Given the description of an element on the screen output the (x, y) to click on. 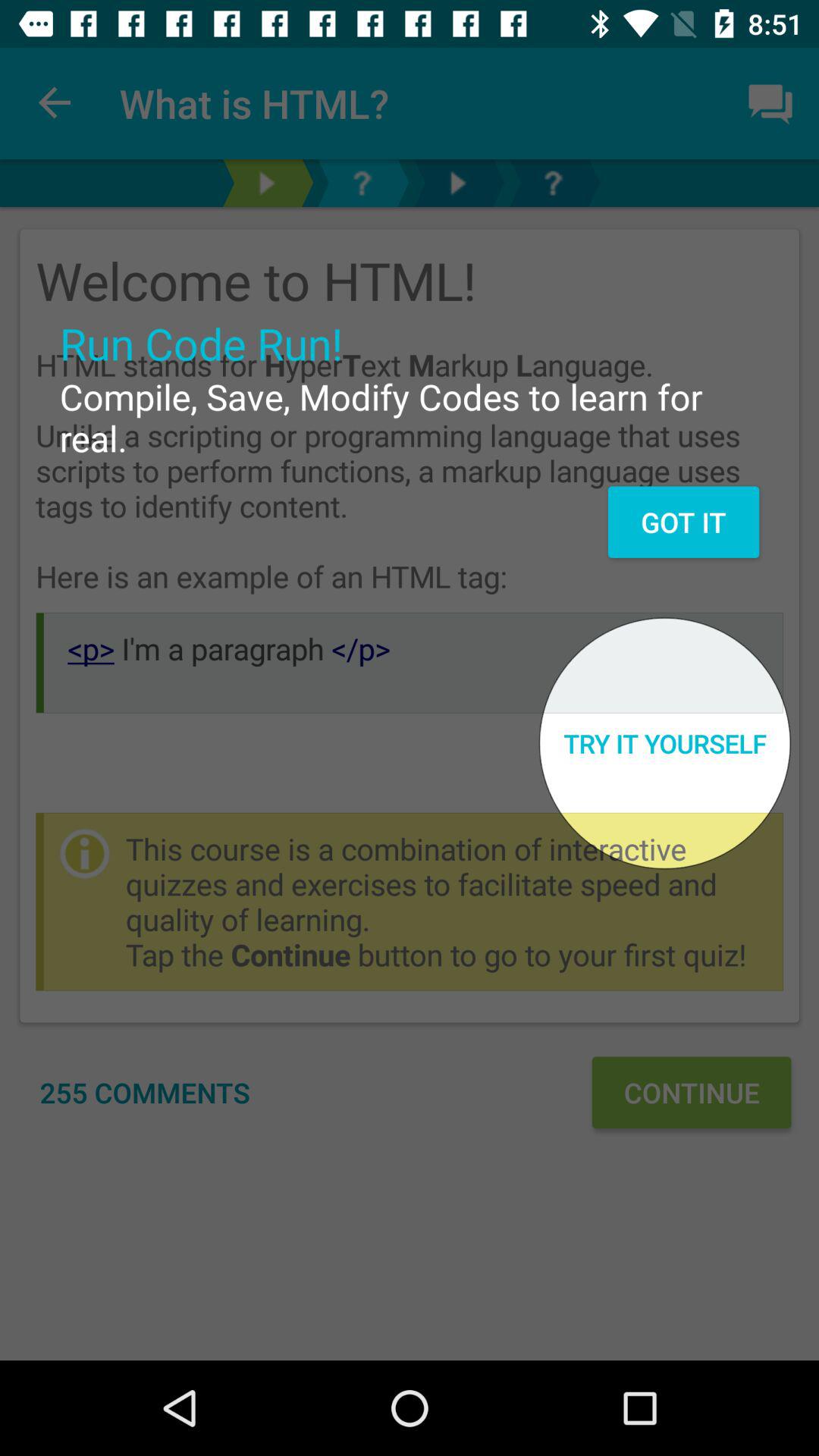
all in one app help icon (552, 183)
